Given the description of an element on the screen output the (x, y) to click on. 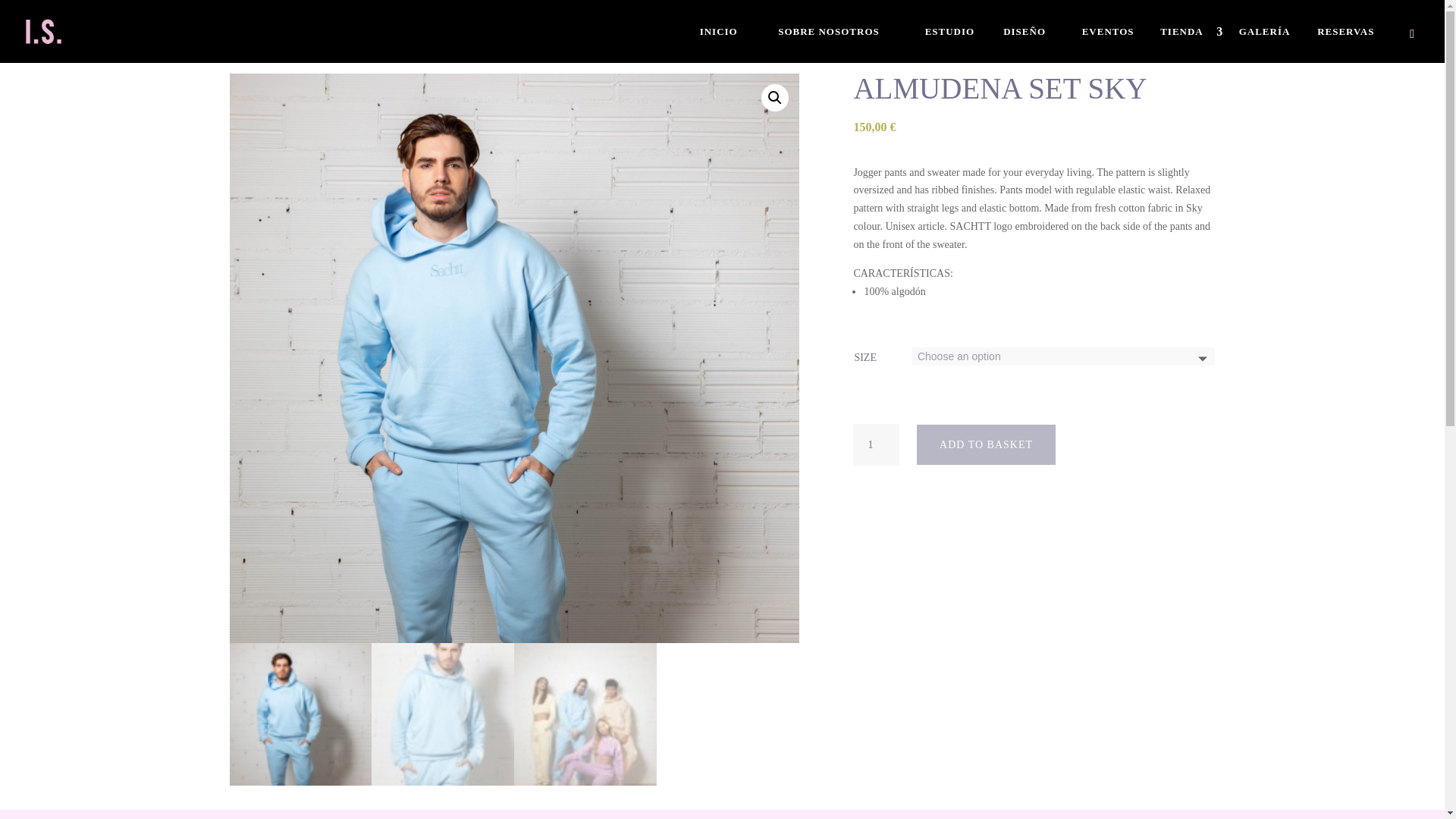
ADD TO BASKET (986, 445)
RESERVAS (1355, 44)
1 (875, 445)
INICIO (731, 44)
ESTUDIO (956, 44)
SOBRE NOSOTROS (842, 44)
TIENDA (1191, 44)
PayPal (1033, 482)
EVENTOS (1112, 44)
